Given the description of an element on the screen output the (x, y) to click on. 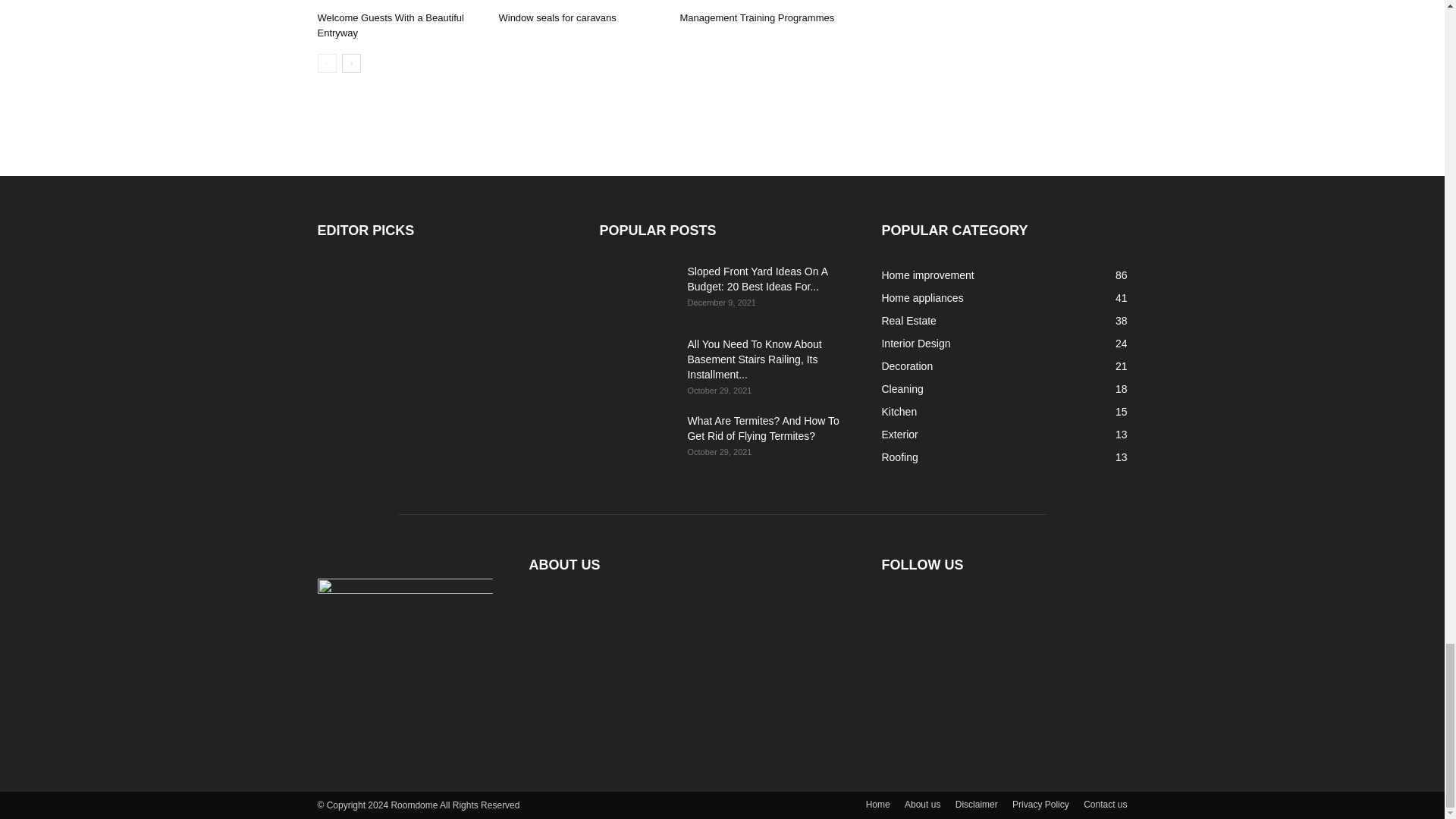
Window seals for caravans (556, 17)
Welcome Guests With a Beautiful Entryway (390, 25)
Welcome Guests With a Beautiful Entryway (399, 2)
Window seals for caravans (580, 2)
